Given the description of an element on the screen output the (x, y) to click on. 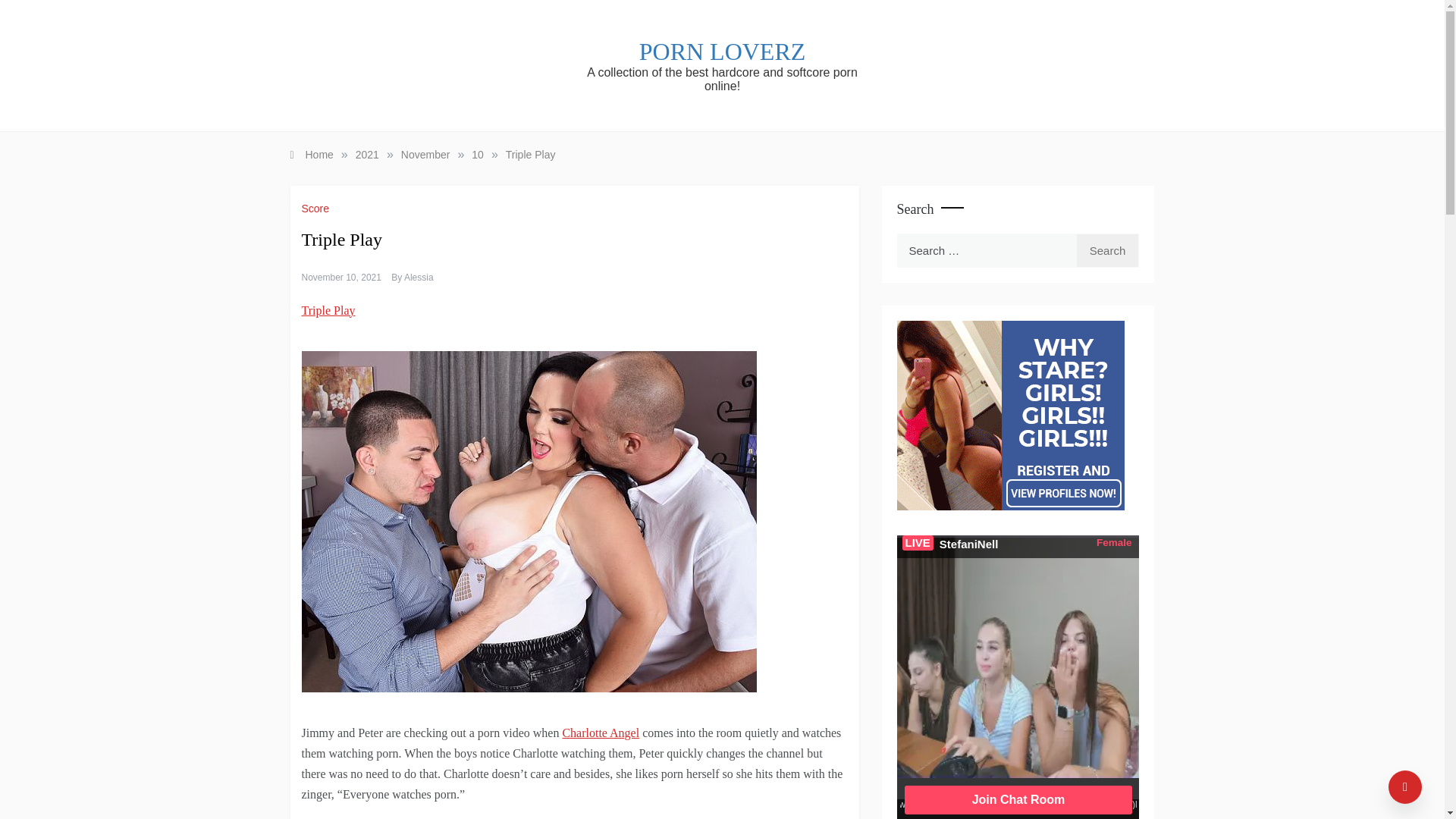
Triple Play (530, 154)
November 10, 2021 (341, 276)
2021 (366, 154)
November (425, 154)
PORN LOVERZ (722, 51)
Charlotte Angel (600, 732)
Home (311, 154)
Alessia (418, 276)
Search (1107, 250)
